Given the description of an element on the screen output the (x, y) to click on. 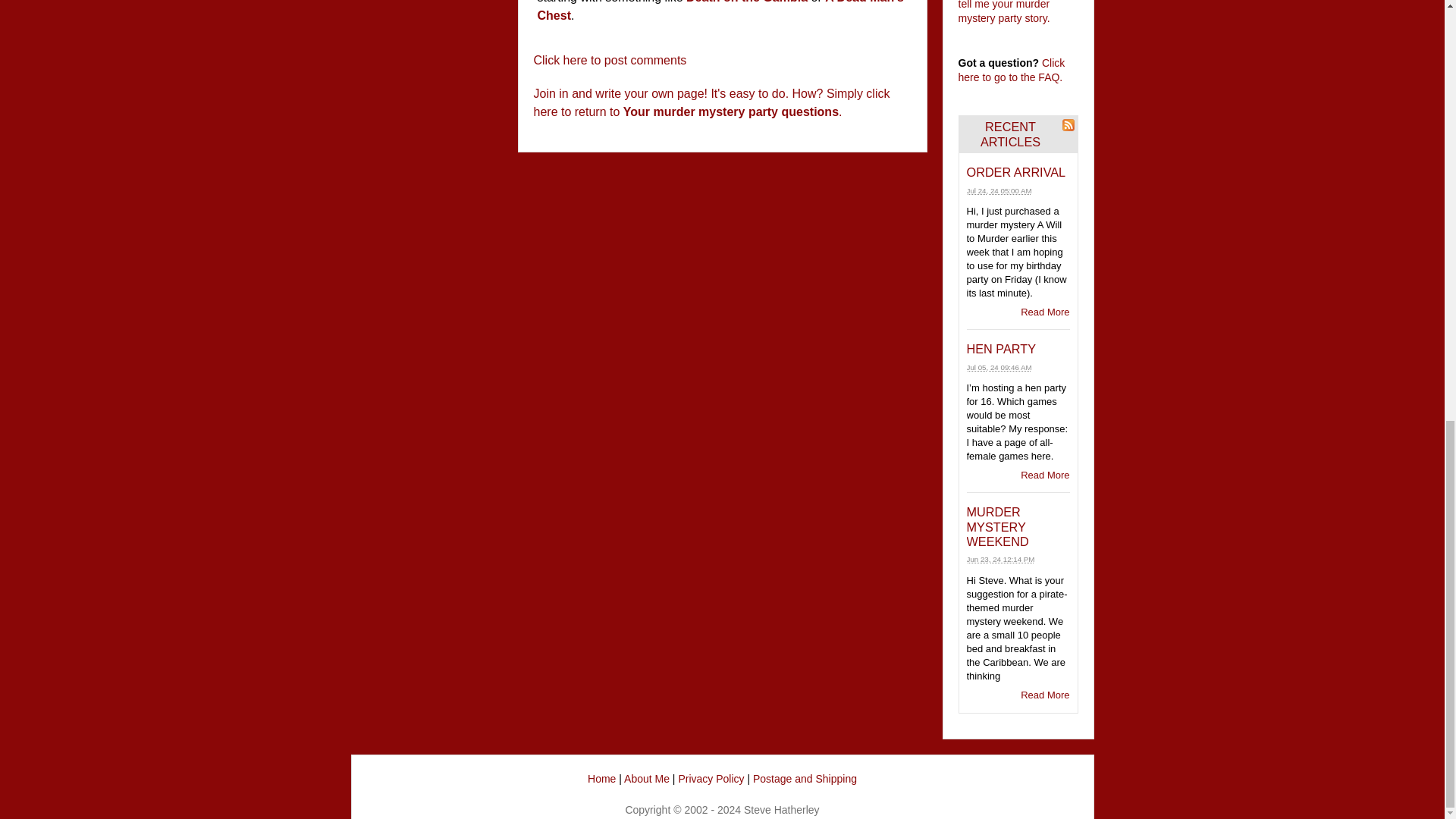
A Dead Man's Chest (719, 11)
Read More (1044, 311)
Click here to tell me your murder mystery party story. (1017, 12)
2024-07-24T05:00:29-0400 (998, 190)
Click here to go to the FAQ. (1011, 69)
2024-07-05T09:46:35-0400 (998, 367)
HEN PARTY (1000, 348)
ORDER ARRIVAL (1015, 172)
RECENT ARTICLES (1010, 133)
Click here to post comments (610, 59)
2024-06-23T12:14:54-0400 (999, 559)
Death on the Gambia (746, 2)
